Given the description of an element on the screen output the (x, y) to click on. 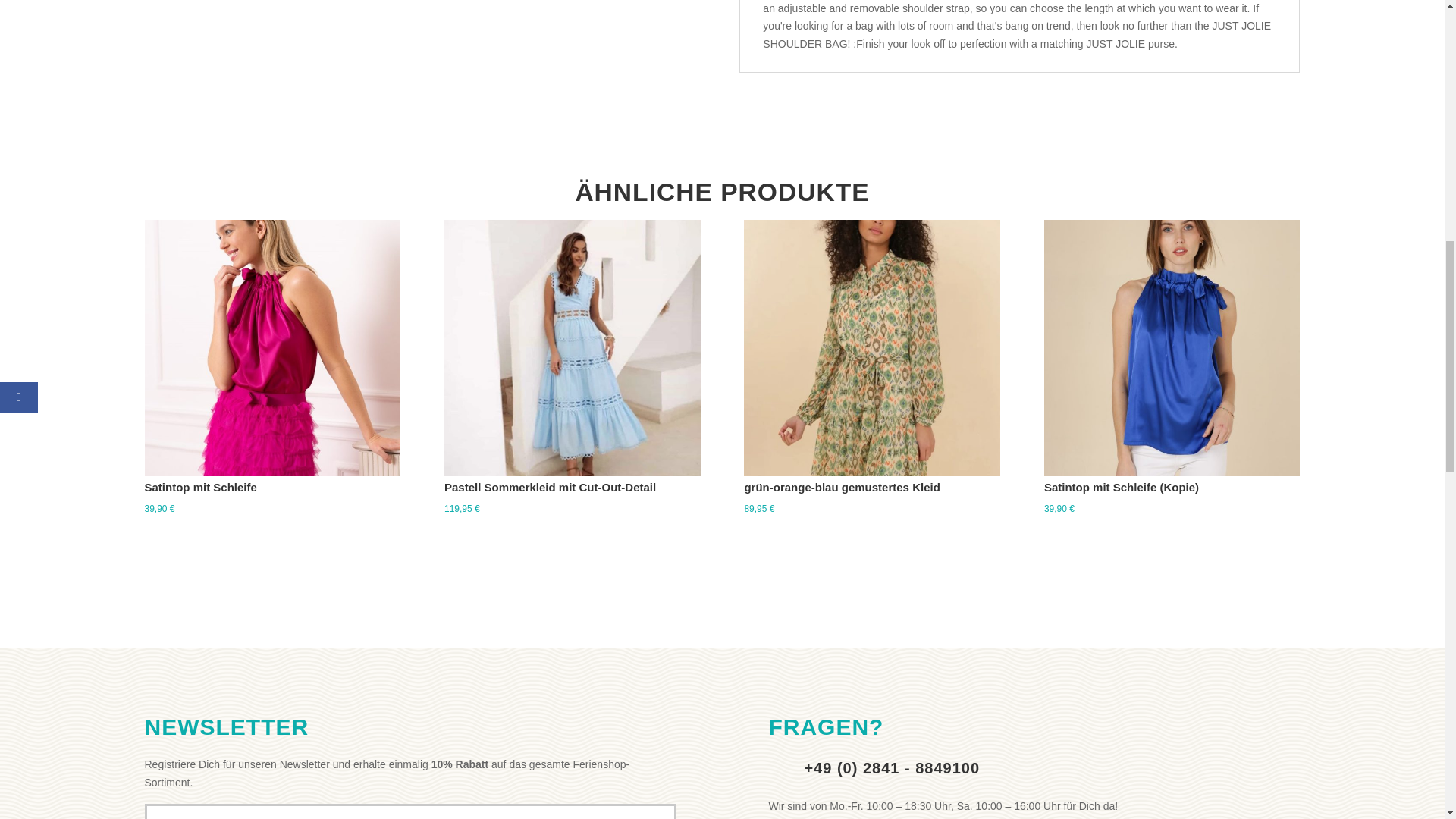
E-Mail-Adresse (409, 811)
